Given the description of an element on the screen output the (x, y) to click on. 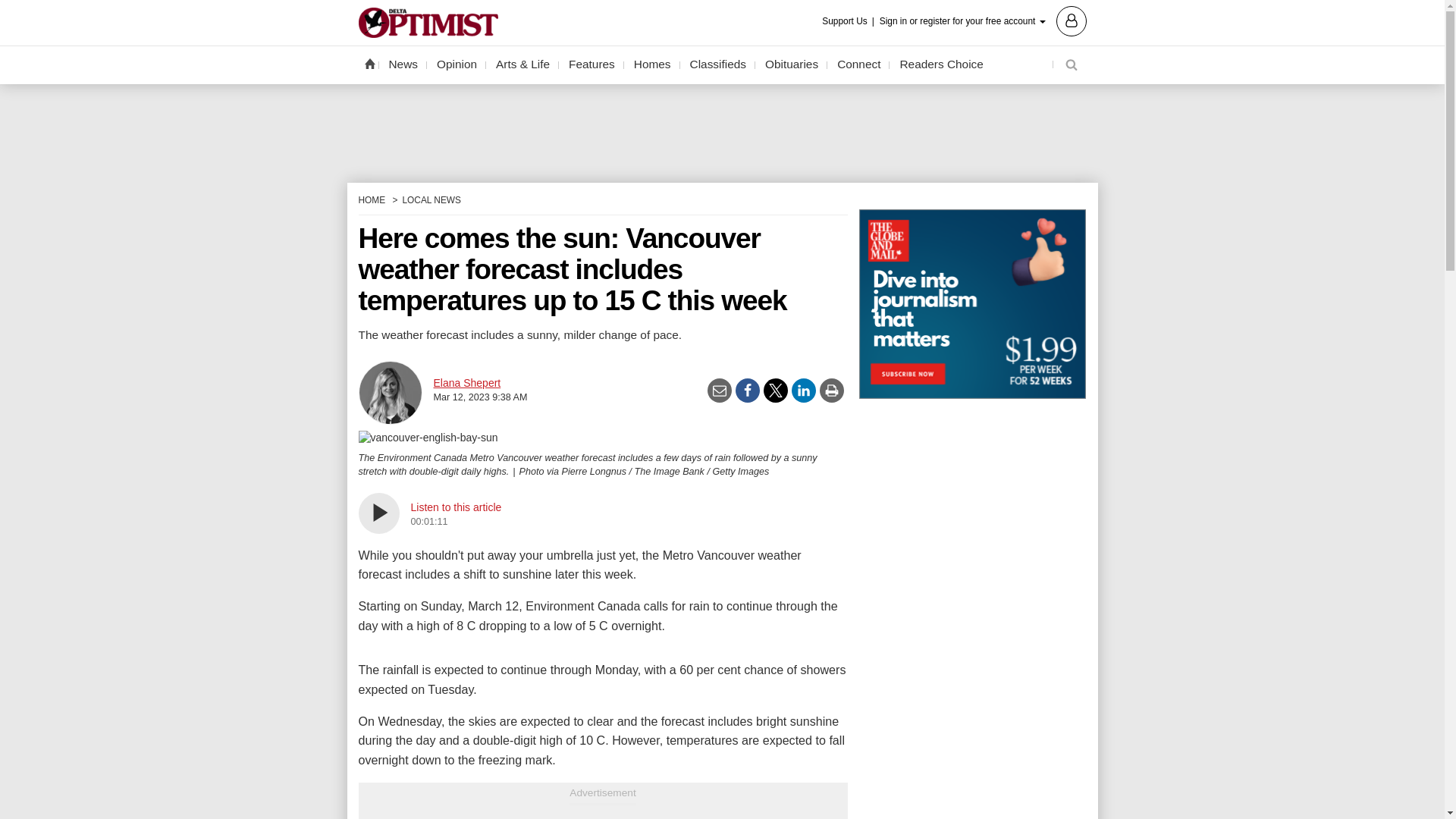
Support Us (849, 21)
Home (368, 63)
Sign in or register for your free account (982, 20)
Opinion (456, 64)
News (403, 64)
